Given the description of an element on the screen output the (x, y) to click on. 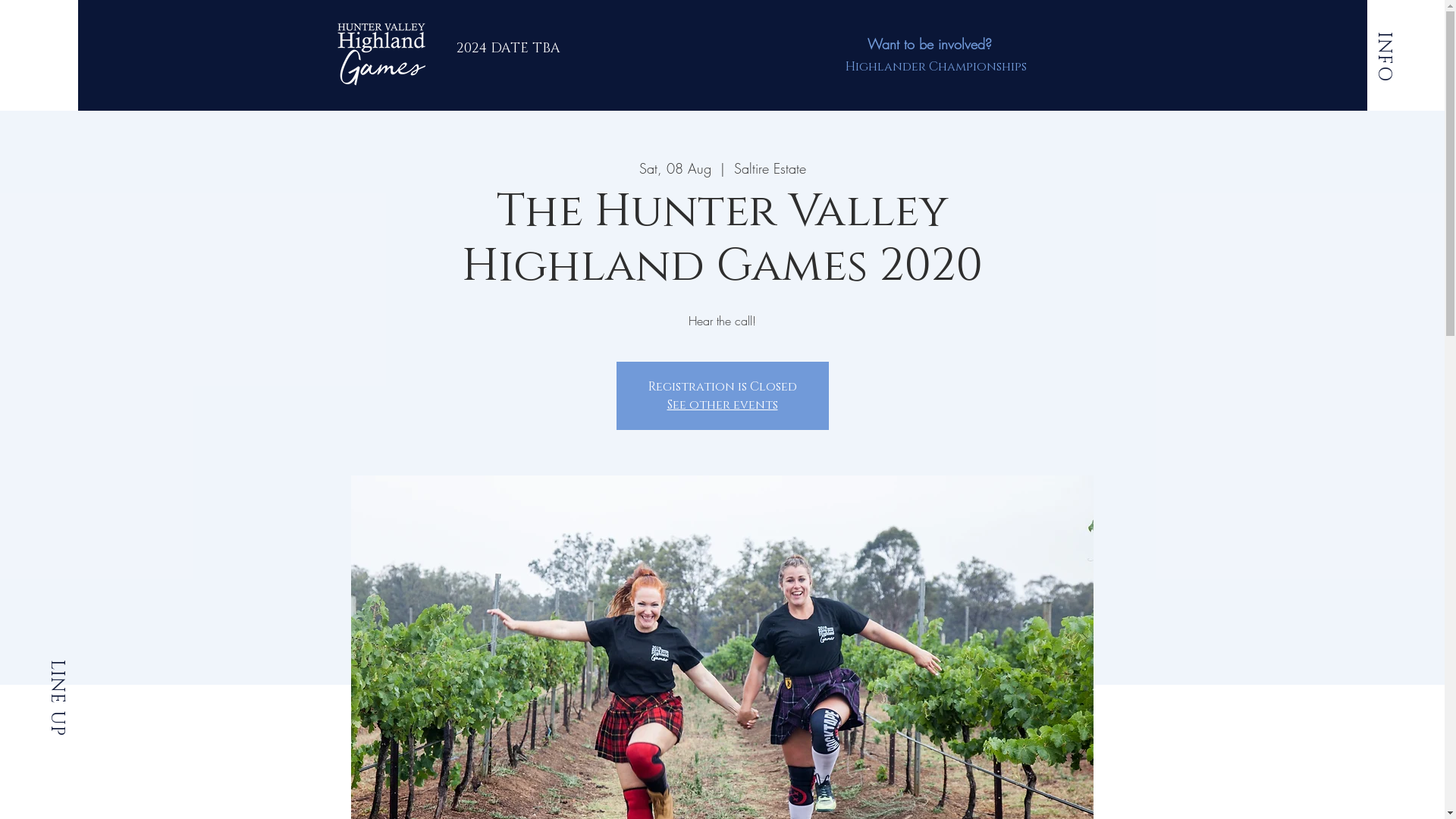
See other events Element type: text (722, 404)
Highlander Championships Element type: text (936, 66)
LINE UP Element type: text (81, 670)
2024 DATE TBA Element type: text (508, 48)
INFO Element type: text (1396, 43)
